Given the description of an element on the screen output the (x, y) to click on. 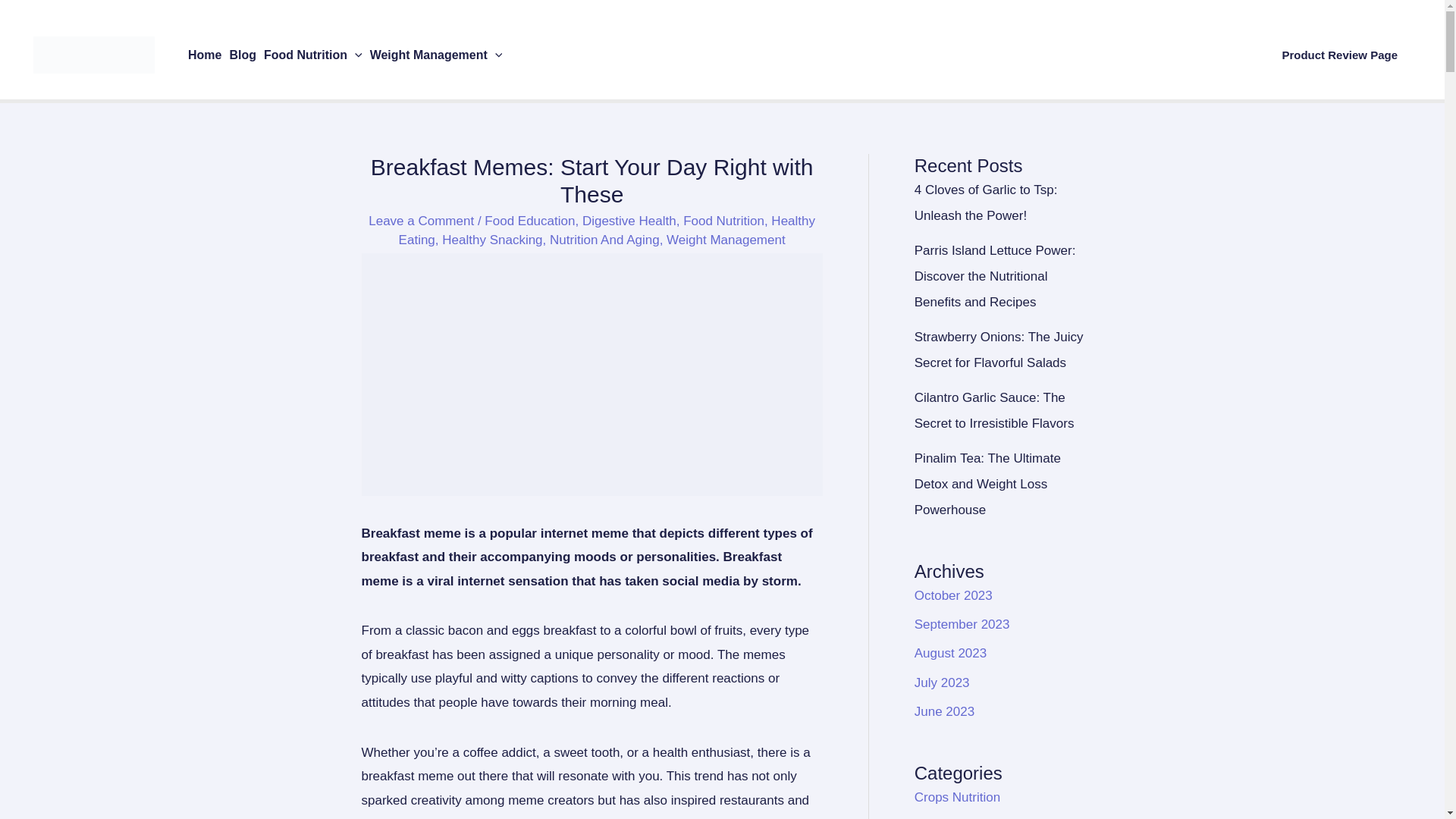
Leave a Comment (421, 220)
Product Review Page (1339, 55)
Food Nutrition (313, 55)
Weight Management (436, 55)
Food Education (529, 220)
